Given the description of an element on the screen output the (x, y) to click on. 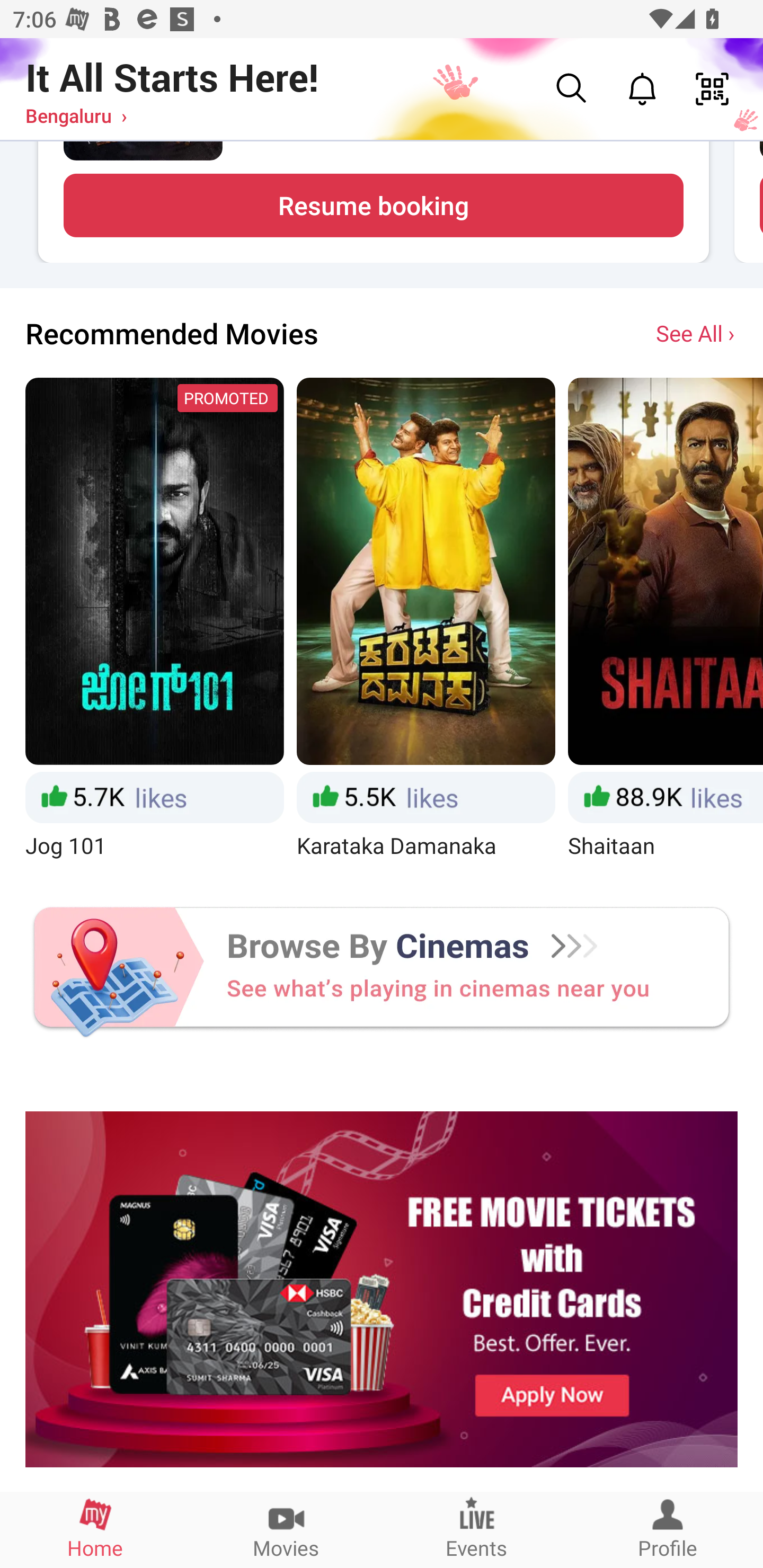
Bengaluru  › (76, 114)
Resume booking (373, 205)
See All › (696, 333)
Jog 101 PROMOTED (154, 620)
Karataka Damanaka (425, 620)
Shaitaan (665, 620)
Home (95, 1529)
Movies (285, 1529)
Events (476, 1529)
Profile (667, 1529)
